Given the description of an element on the screen output the (x, y) to click on. 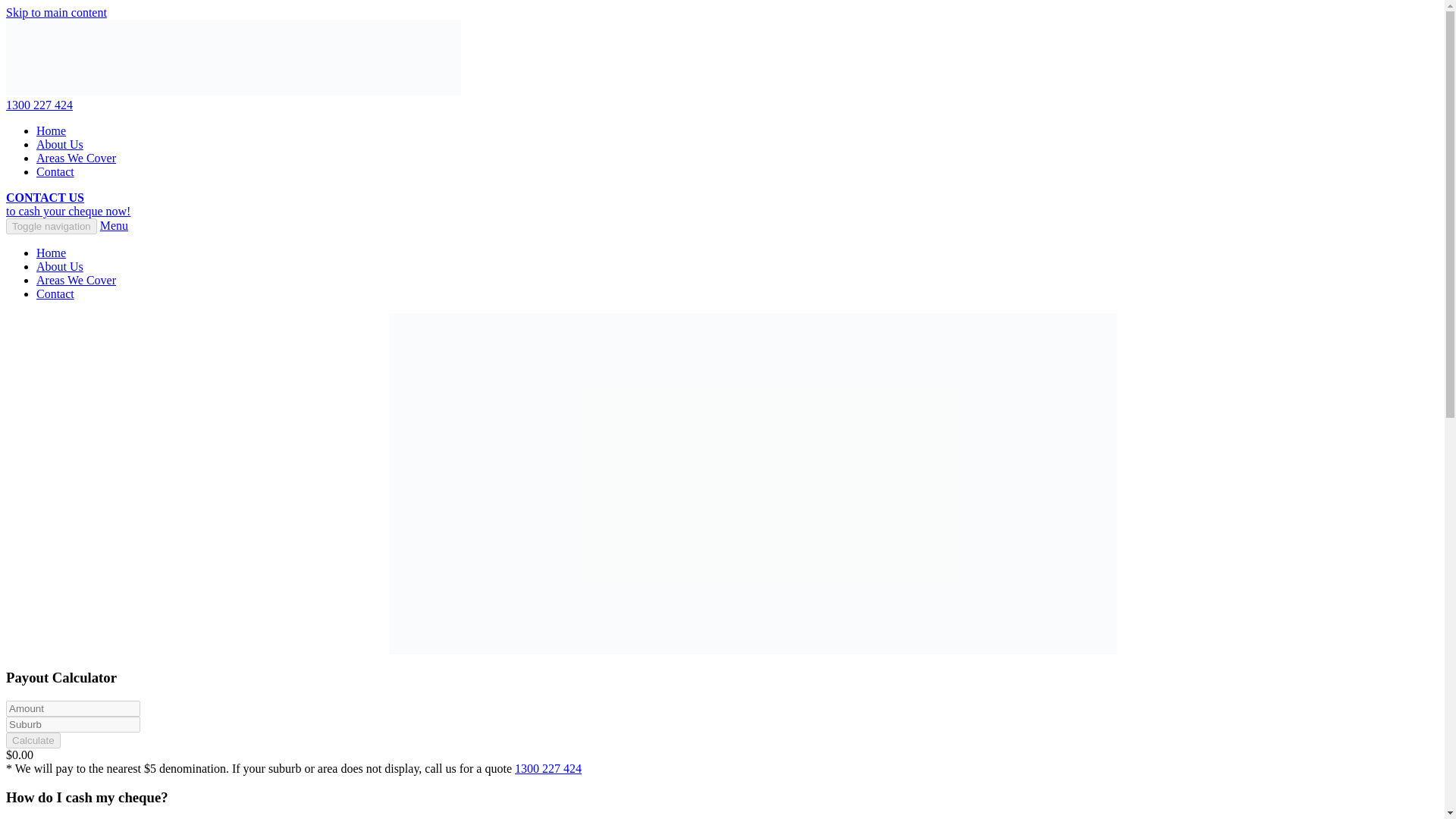
Areas We Cover (76, 279)
Contact (55, 171)
Home (50, 130)
1300 227 424 (547, 768)
Home (50, 252)
About Us (59, 144)
About Us (59, 266)
Calculate (33, 740)
Skip to main content (55, 11)
1300 227 424 (38, 104)
Contact (55, 293)
Toggle navigation (51, 226)
Areas We Cover (76, 157)
Menu (114, 225)
